Given the description of an element on the screen output the (x, y) to click on. 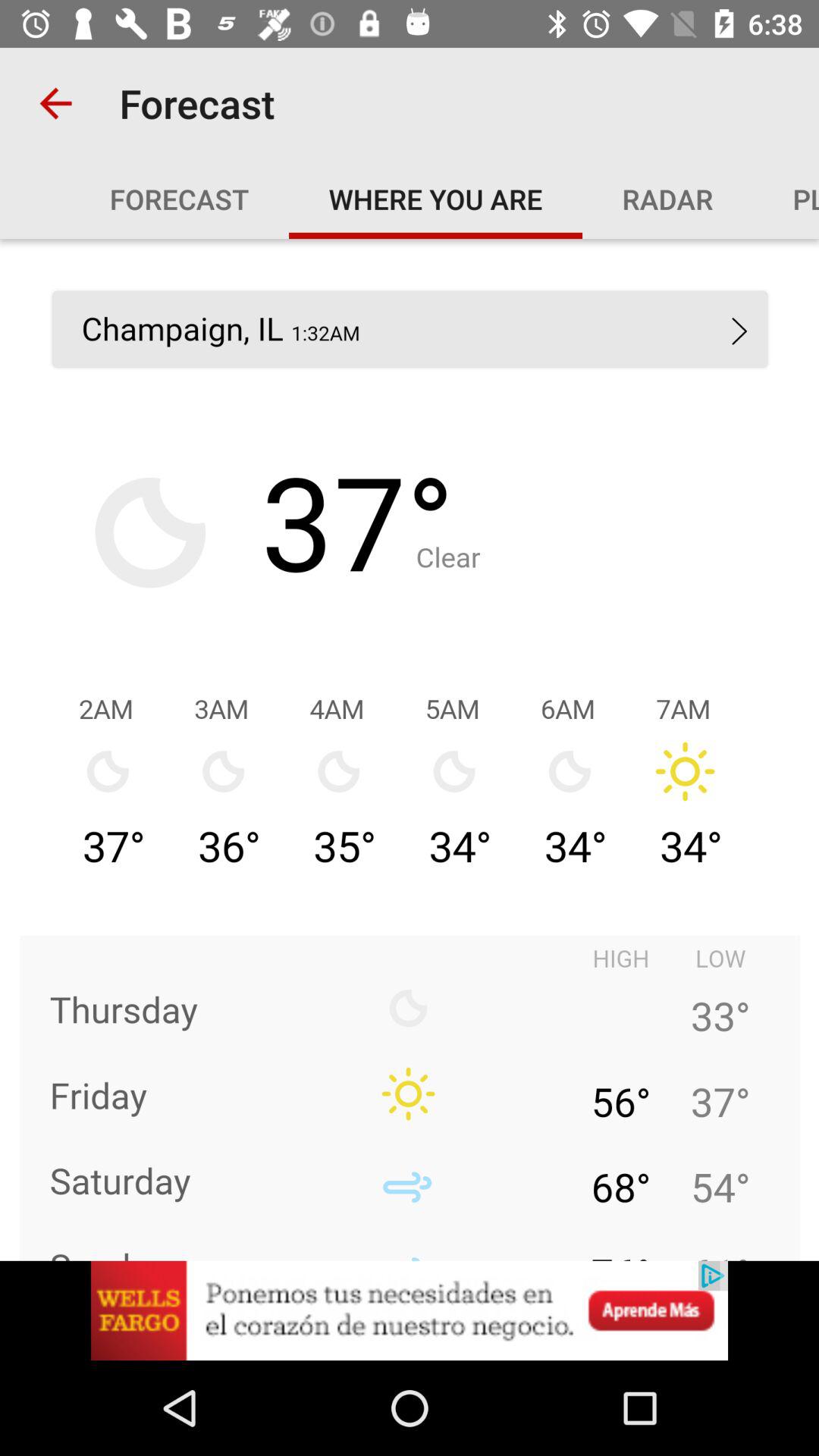
go to advertisement page (409, 1310)
